Given the description of an element on the screen output the (x, y) to click on. 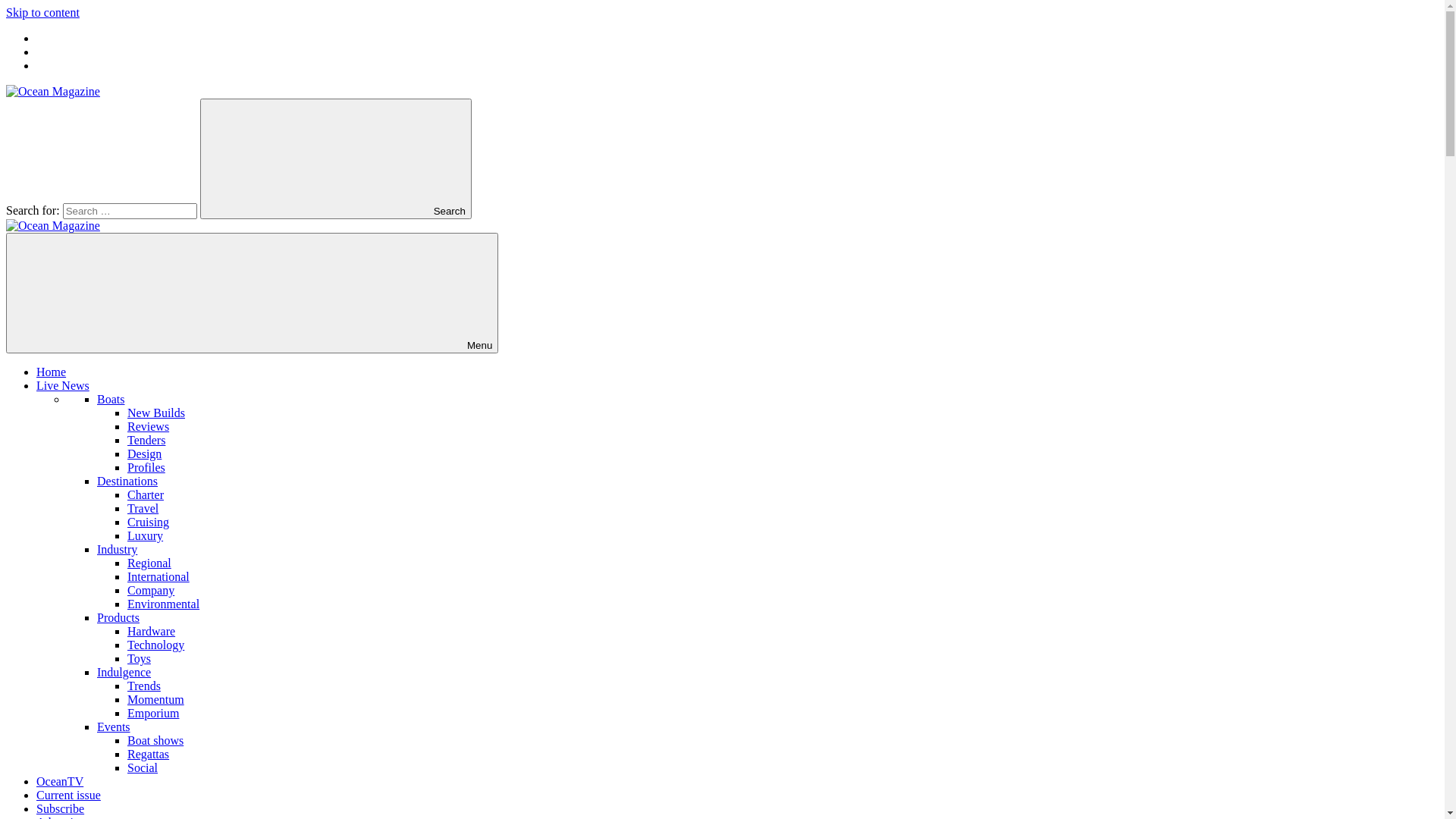
Subscribe Element type: text (60, 808)
Social Element type: text (142, 767)
Company Element type: text (150, 589)
Live News Element type: text (62, 385)
Search Element type: text (335, 158)
Boats Element type: text (110, 398)
Charter Element type: text (145, 494)
Industry Element type: text (117, 548)
Cruising Element type: text (148, 521)
Current issue Element type: text (68, 794)
Skip to content Element type: text (42, 12)
Regional Element type: text (149, 562)
Indulgence Element type: text (123, 671)
Design Element type: text (144, 453)
Menu Element type: text (252, 292)
Luxury Element type: text (145, 535)
International Element type: text (158, 576)
Travel Element type: text (142, 508)
Profiles Element type: text (146, 467)
Products Element type: text (118, 617)
OceanTV Element type: text (59, 781)
Tenders Element type: text (146, 439)
Events Element type: text (113, 726)
Environmental Element type: text (163, 603)
Ocean Magazine Element type: hover (53, 90)
Reviews Element type: text (148, 426)
Technology Element type: text (155, 644)
Ocean Magazine Element type: hover (53, 225)
Hardware Element type: text (151, 630)
Emporium Element type: text (152, 712)
Boat shows Element type: text (155, 740)
New Builds Element type: text (156, 412)
Regattas Element type: text (148, 753)
Destinations Element type: text (127, 480)
Home Element type: text (50, 371)
Toys Element type: text (138, 658)
Momentum Element type: text (155, 699)
Trends Element type: text (143, 685)
